Given the description of an element on the screen output the (x, y) to click on. 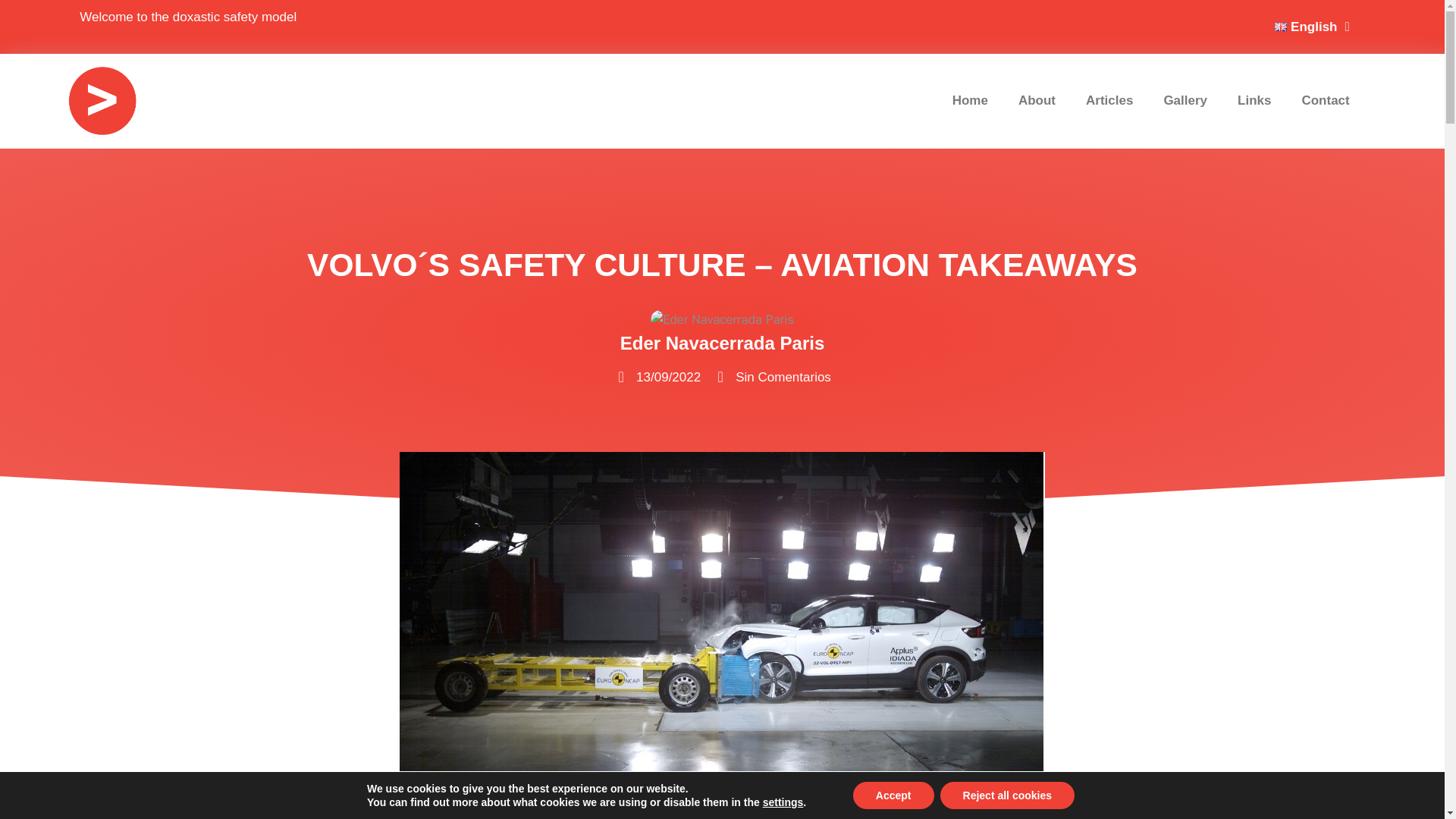
About (1036, 100)
Gallery (1185, 100)
English (1312, 26)
Contact (1324, 100)
Links (1254, 100)
Home (970, 100)
Articles (1109, 100)
Sin Comentarios (772, 377)
